Given the description of an element on the screen output the (x, y) to click on. 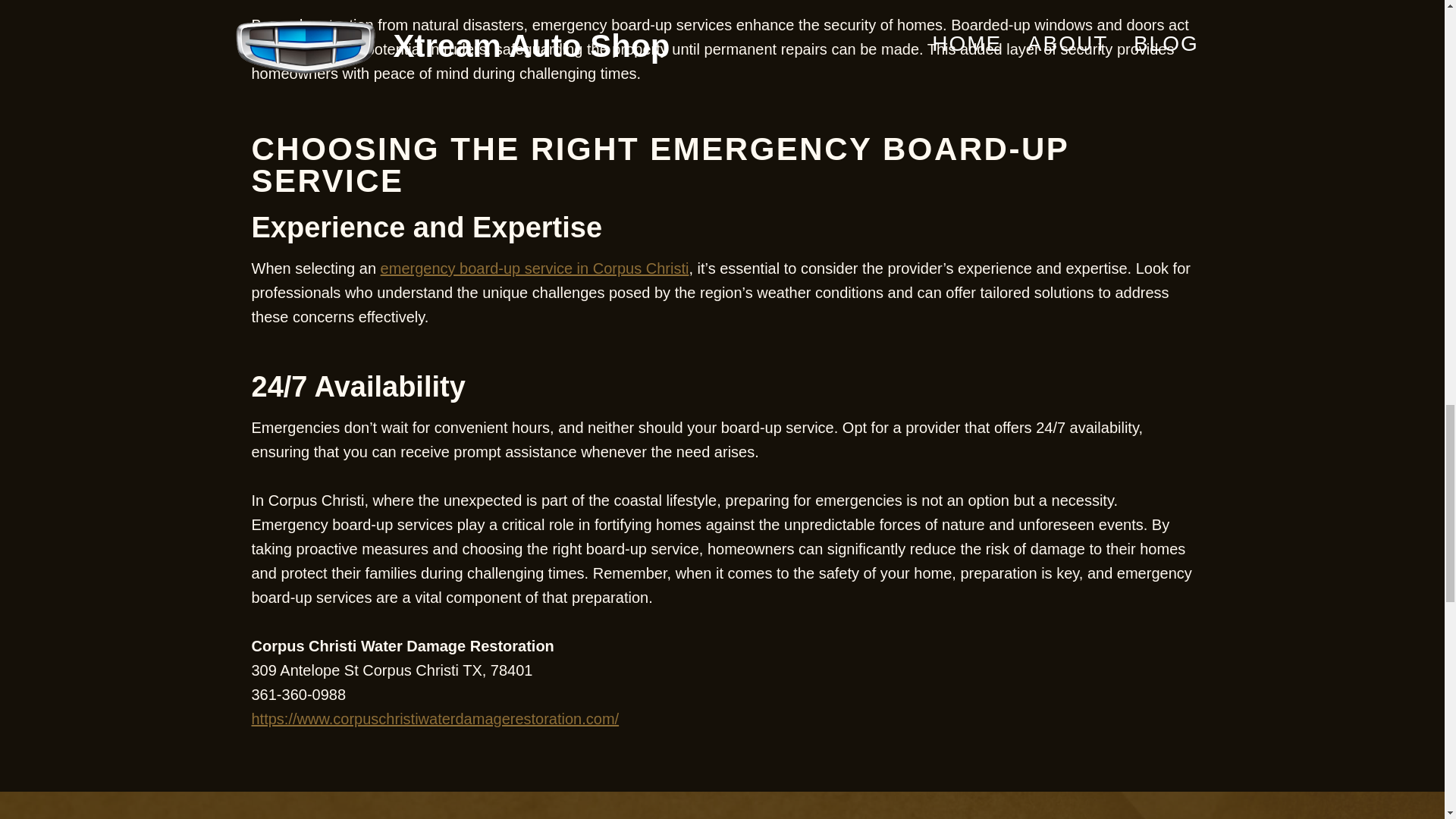
emergency board-up service in Corpus Christi (534, 268)
